Given the description of an element on the screen output the (x, y) to click on. 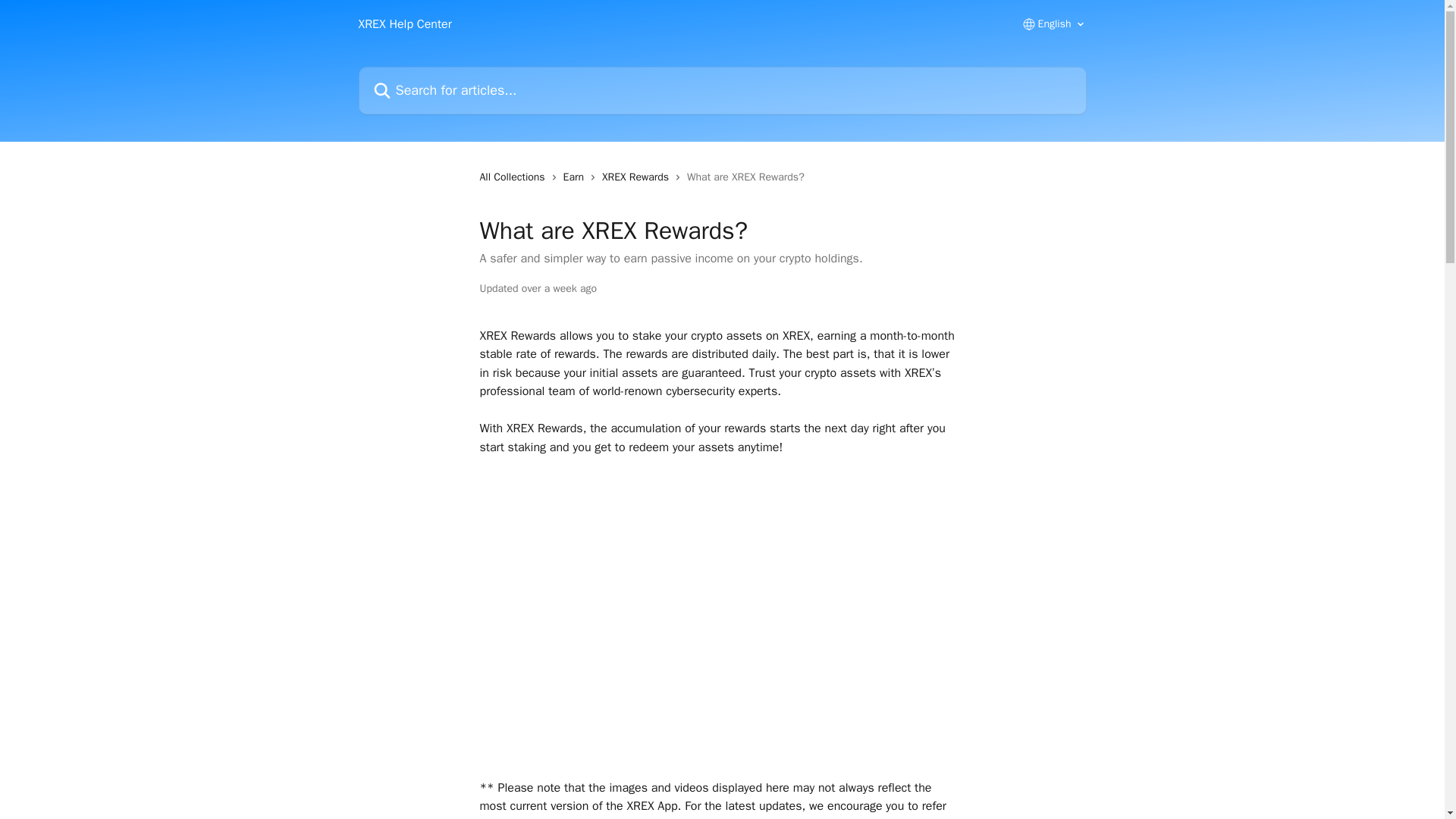
XREX Rewards (638, 176)
All Collections (514, 176)
Earn (576, 176)
